Given the description of an element on the screen output the (x, y) to click on. 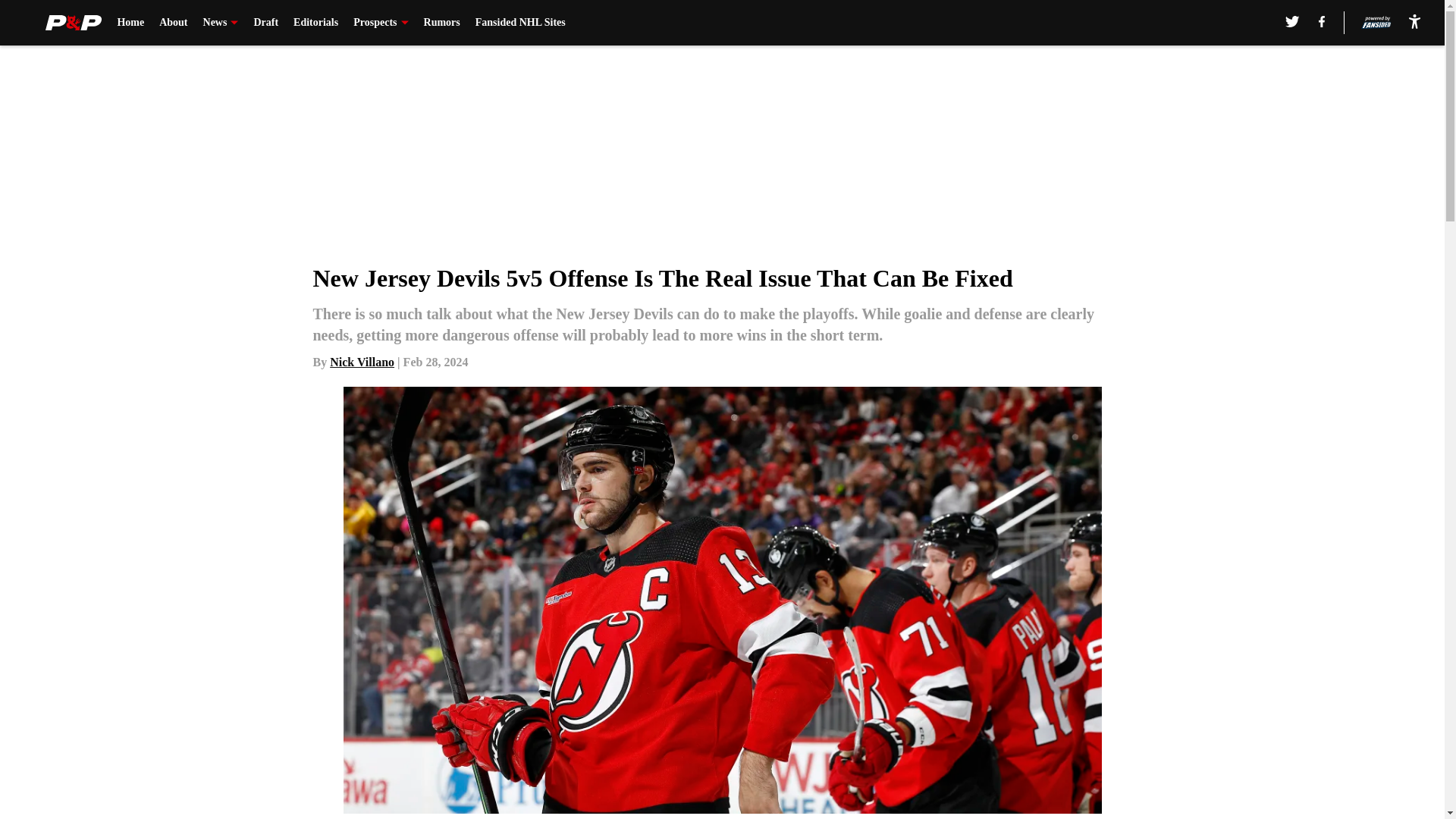
Fansided NHL Sites (521, 22)
Editorials (315, 22)
Rumors (441, 22)
About (172, 22)
Home (130, 22)
Nick Villano (362, 361)
Draft (265, 22)
